Given the description of an element on the screen output the (x, y) to click on. 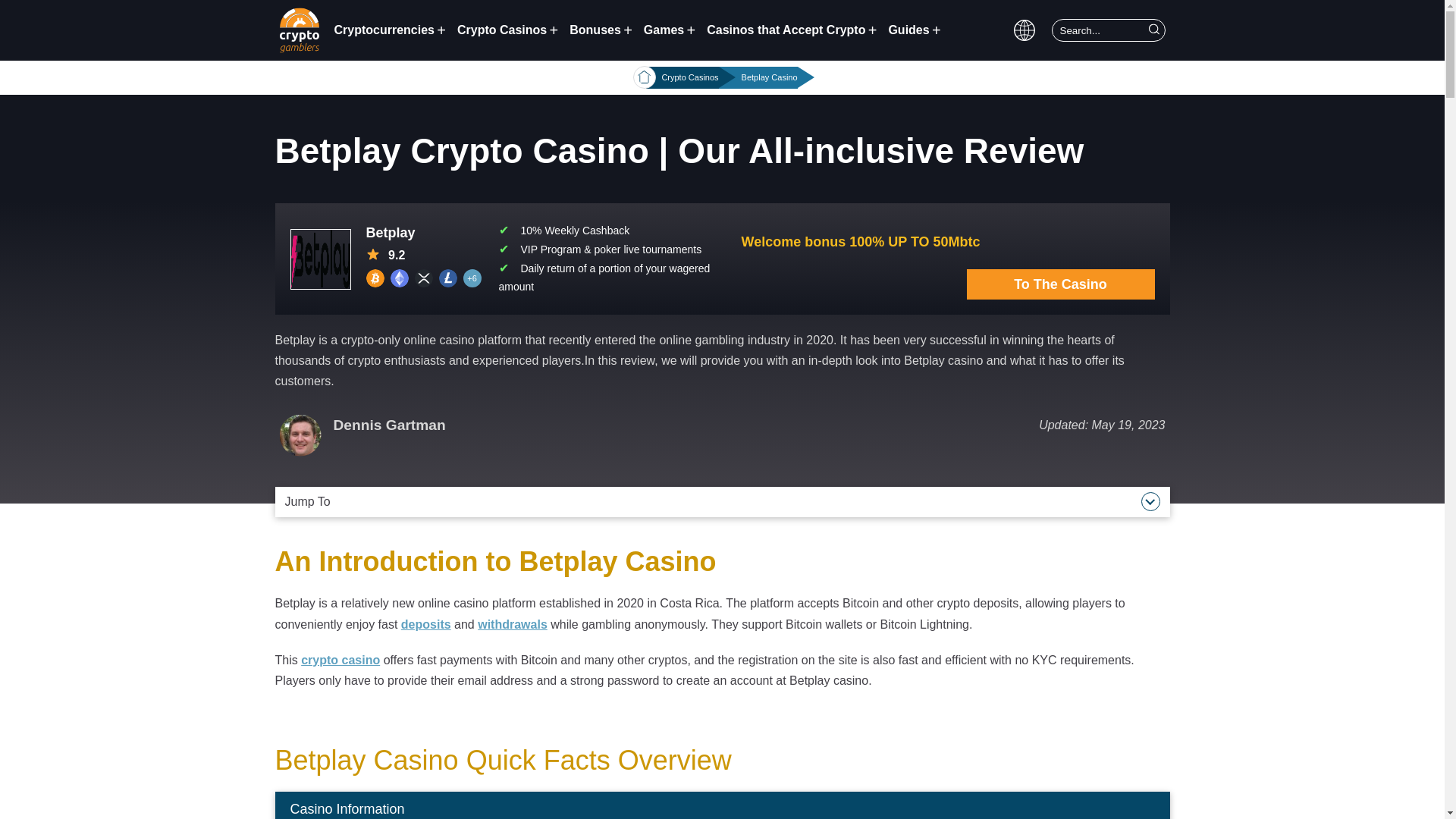
Crypto Casinos (511, 30)
Updated: May 19, 2023 (1101, 424)
Cryptocurrencies (392, 30)
